Given the description of an element on the screen output the (x, y) to click on. 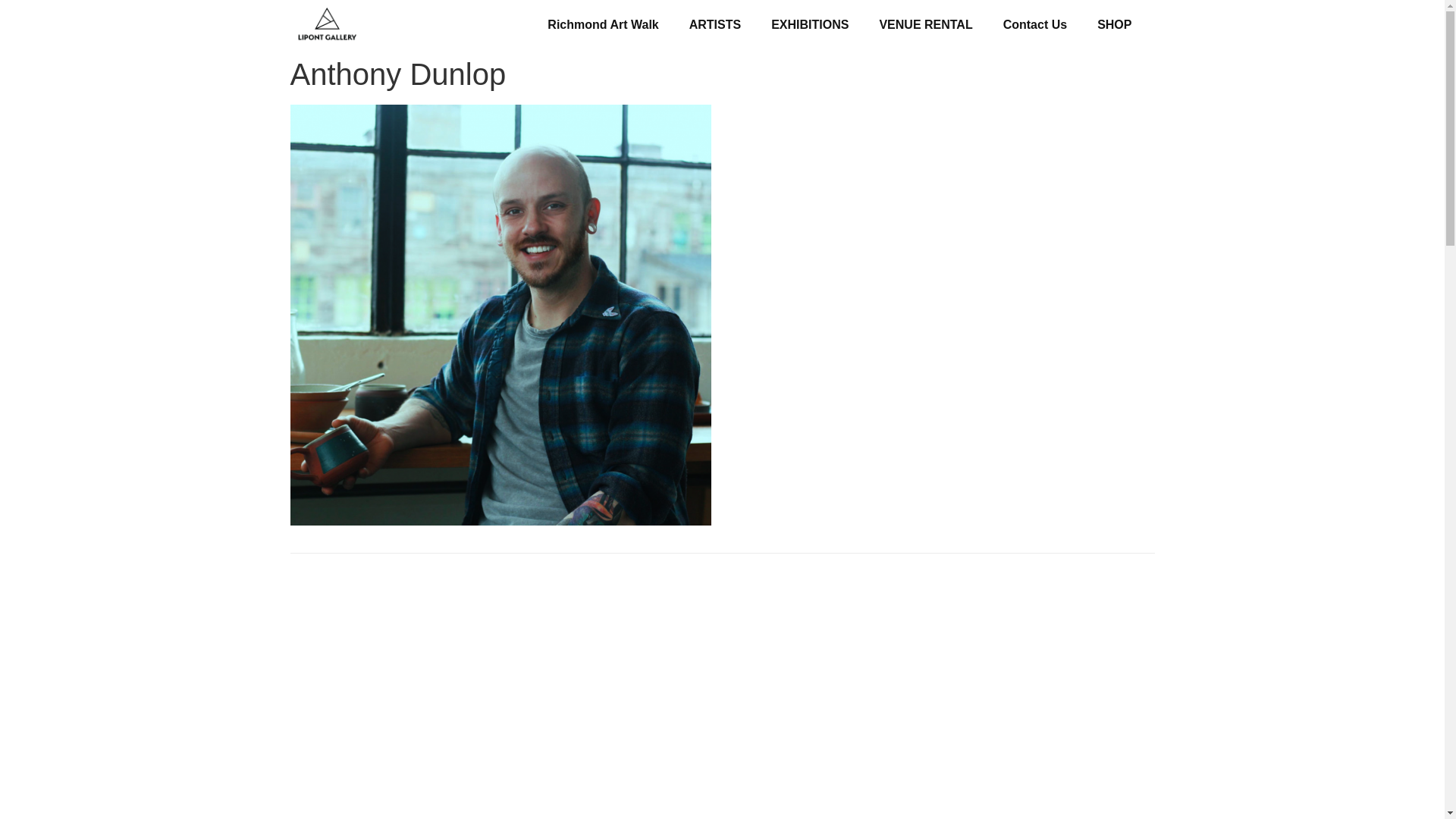
EXHIBITIONS (809, 24)
VENUE RENTAL (925, 24)
SHOP (1114, 24)
Contact Us (1034, 24)
Richmond Art Walk (602, 24)
ARTISTS (714, 24)
